Given the description of an element on the screen output the (x, y) to click on. 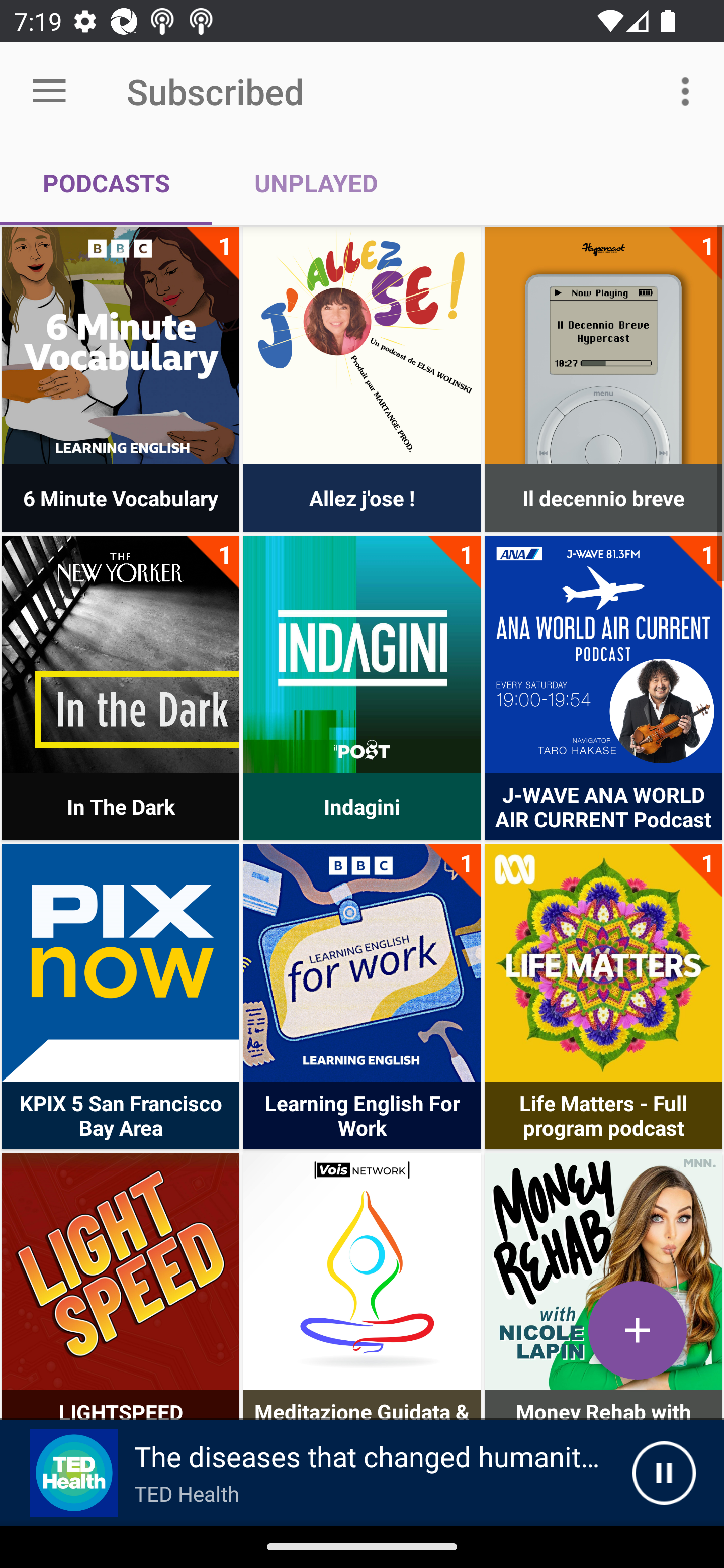
Open menu (49, 91)
More options (688, 90)
PODCASTS (105, 183)
UNPLAYED (315, 183)
6 Minute Vocabulary (120, 345)
Allez j'ose ! (361, 345)
Il decennio breve (602, 345)
In The Dark (120, 654)
Indagini (361, 654)
J-WAVE ANA WORLD AIR CURRENT Podcast (602, 654)
KPIX 5 San Francisco Bay Area (120, 962)
Learning English For Work (361, 962)
Life Matters - Full program podcast (602, 962)
Meditazione Guidata & Rilassamento (361, 1271)
Money Rehab with Nicole Lapin (602, 1271)
Pause (663, 1472)
